Given the description of an element on the screen output the (x, y) to click on. 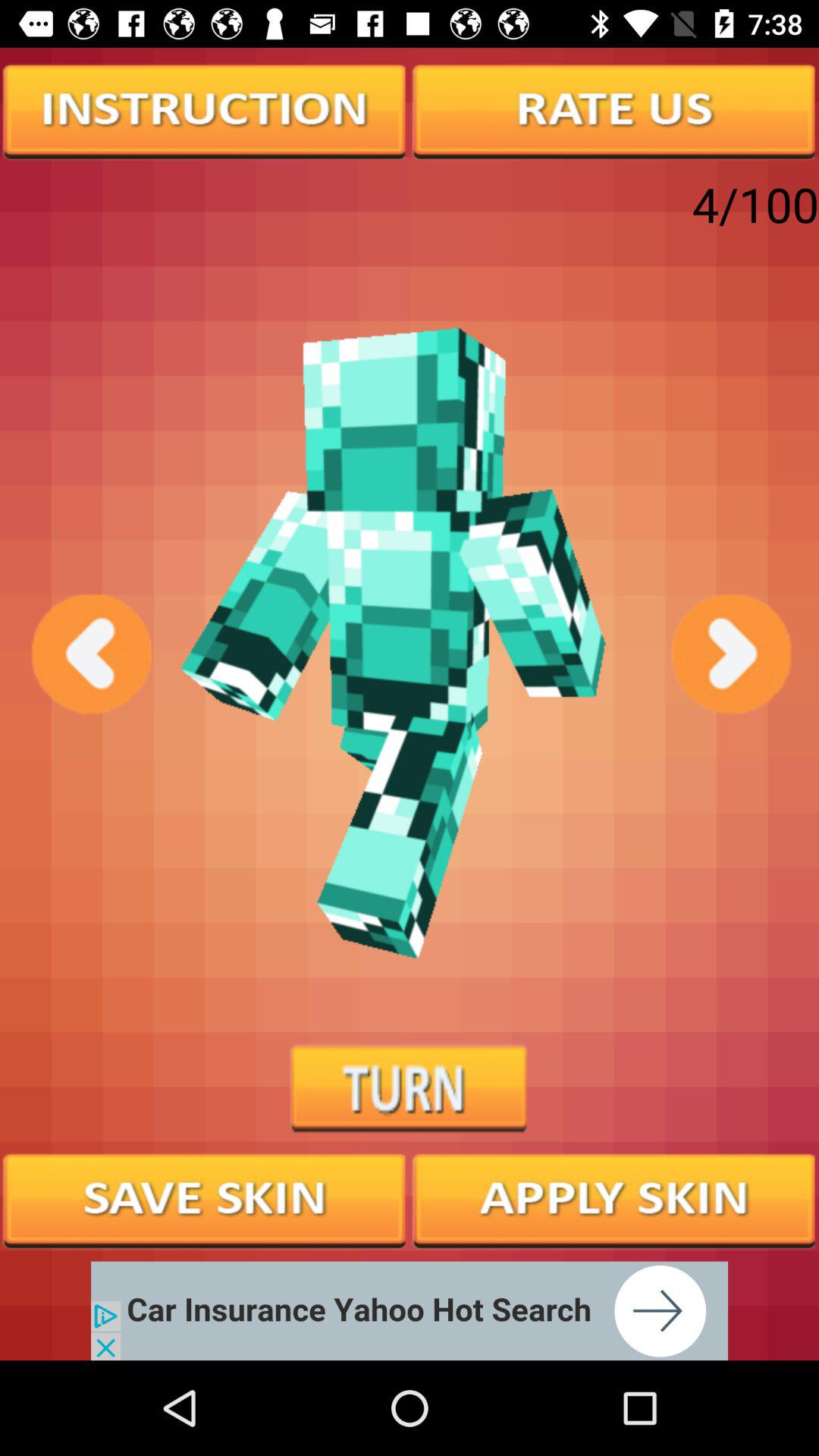
backward (89, 654)
